Given the description of an element on the screen output the (x, y) to click on. 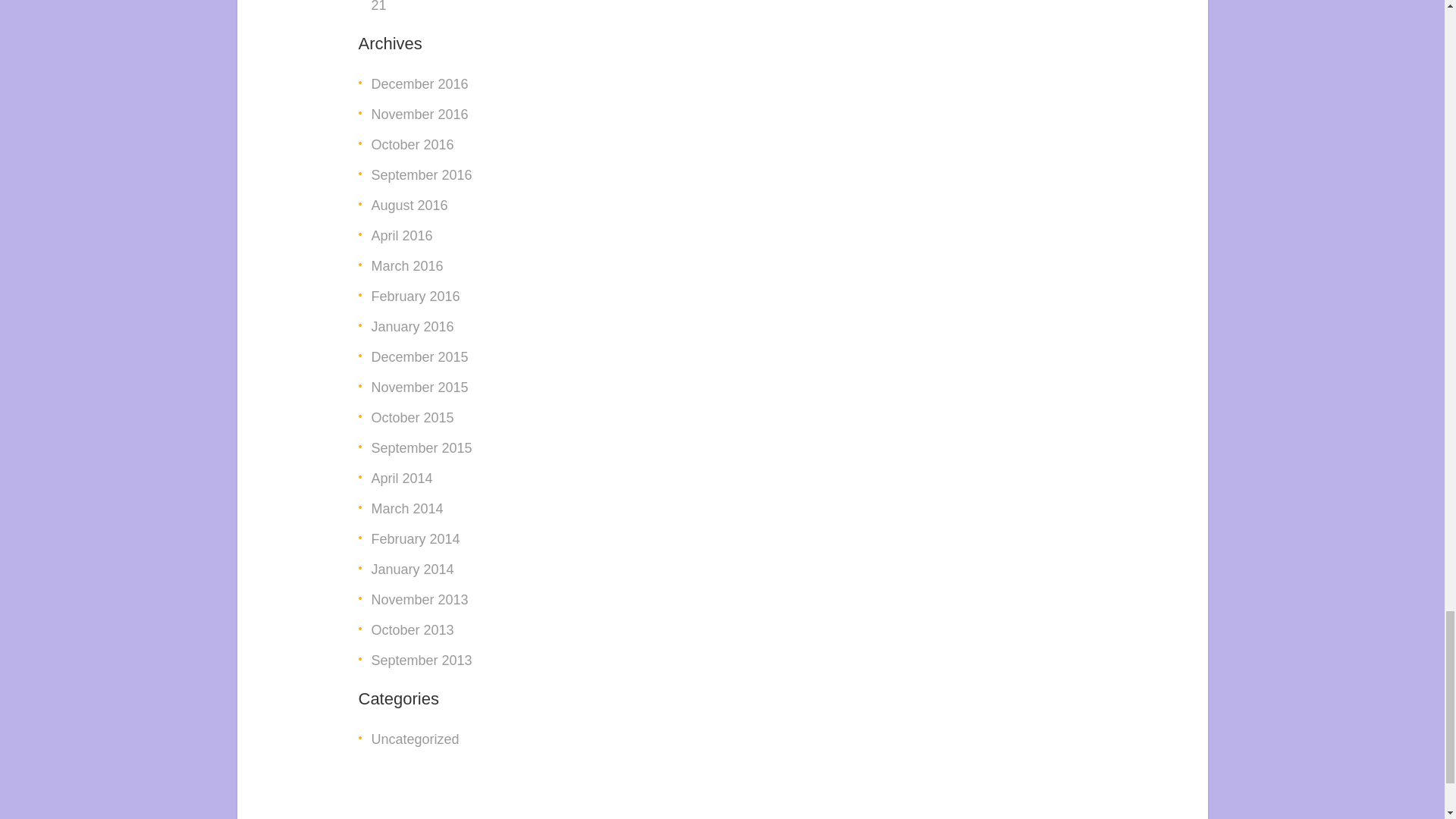
January 2014 (412, 569)
November 2016 (419, 114)
February 2014 (415, 539)
November 2013 (419, 599)
September 2015 (421, 447)
August 2016 (409, 205)
September 2016 (421, 174)
March 2016 (407, 265)
October 2015 (412, 417)
November 2015 (419, 387)
